Given the description of an element on the screen output the (x, y) to click on. 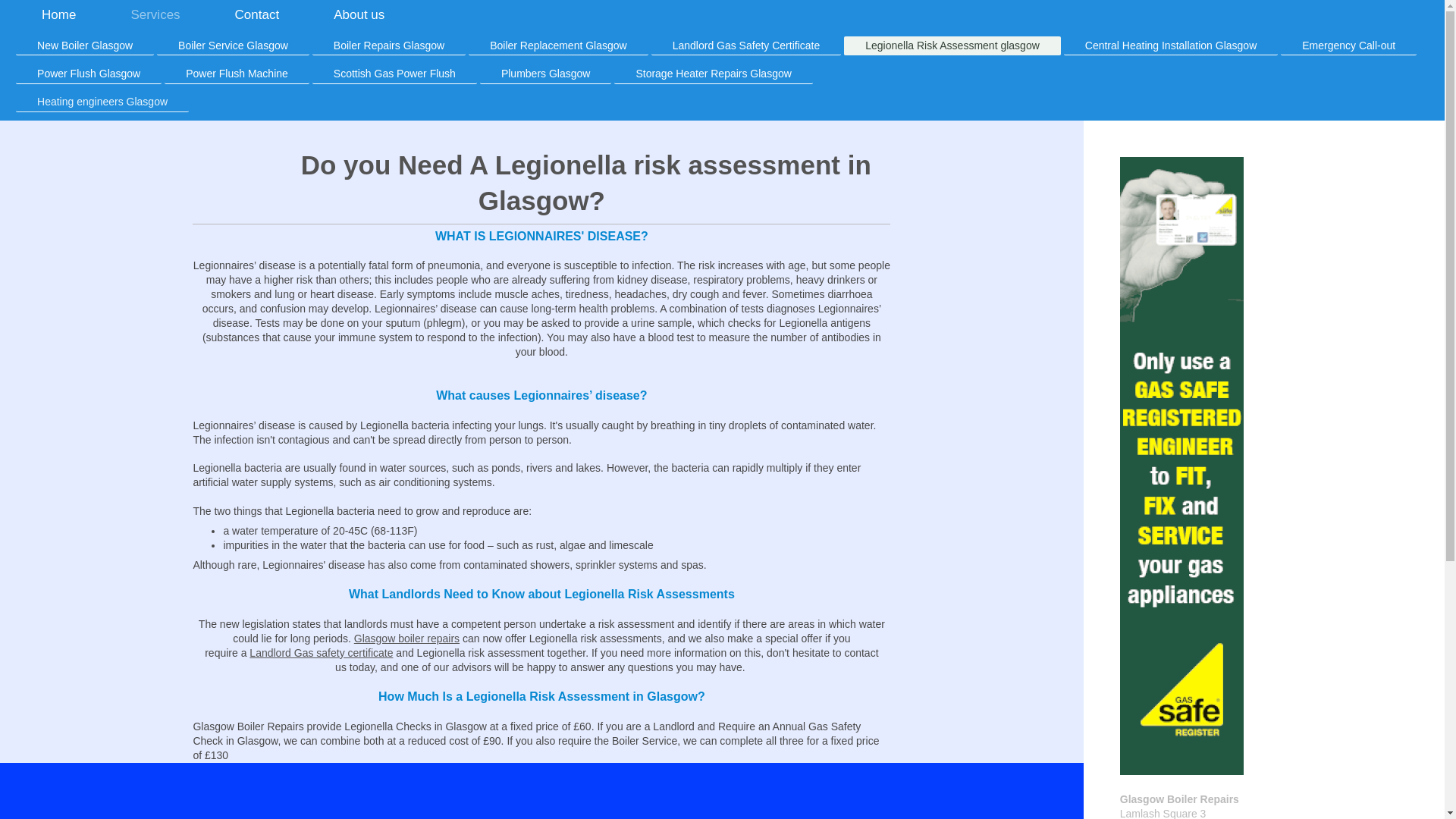
Boiler Service Glasgow (232, 45)
New Boiler Glasgow (85, 45)
Home (58, 15)
Legionella Risk Assessment glasgow (952, 45)
Scottish Gas Power Flush (395, 73)
Boiler Repairs Glasgow (389, 45)
Central Heating Installation Glasgow (1171, 45)
Power Flush Machine (236, 73)
Boiler Replacement Glasgow (557, 45)
About us (358, 15)
